Given the description of an element on the screen output the (x, y) to click on. 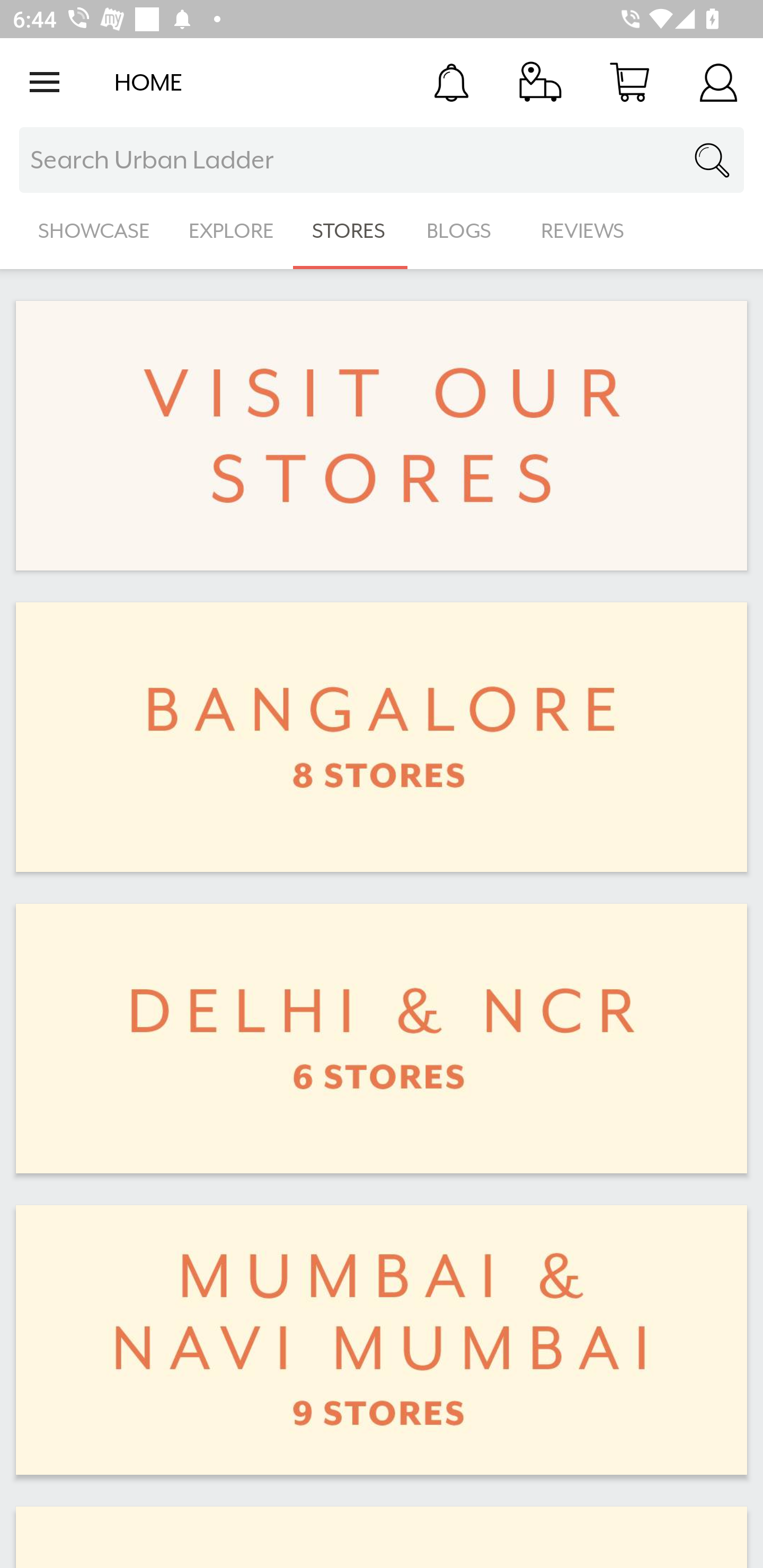
Open navigation drawer (44, 82)
Notification (450, 81)
Track Order (540, 81)
Cart (629, 81)
Account Details (718, 81)
Search Urban Ladder  (381, 159)
SHOWCASE (94, 230)
EXPLORE (230, 230)
STORES (349, 230)
BLOGS (464, 230)
REVIEWS (582, 230)
